Given the description of an element on the screen output the (x, y) to click on. 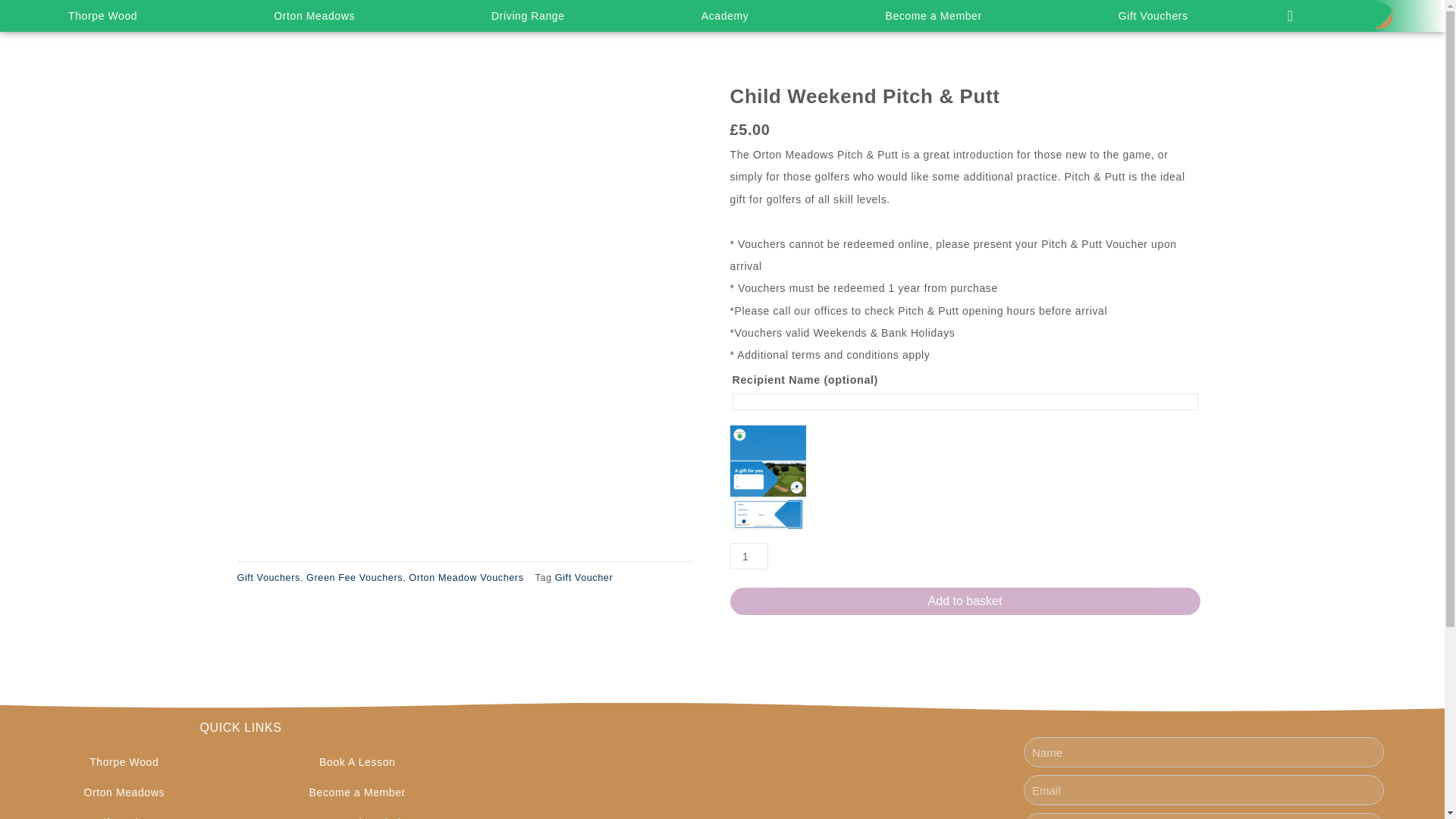
Orton Meadows (314, 15)
Driving Range (528, 15)
Thorpe Wood (102, 15)
Become a Member (932, 15)
Academy (724, 15)
1 (748, 555)
Gift Vouchers (1152, 15)
